Given the description of an element on the screen output the (x, y) to click on. 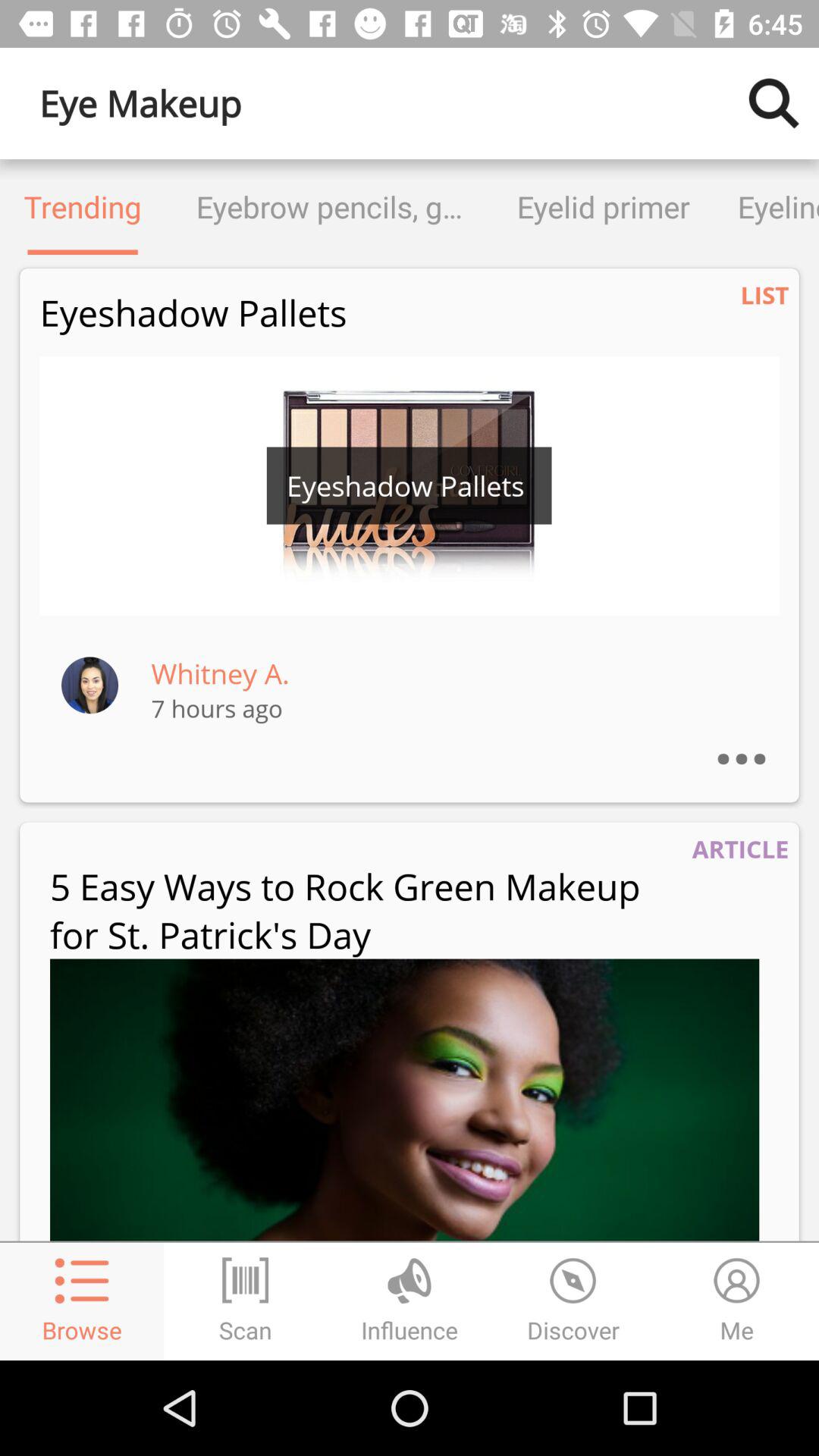
tap the item to the left of eyelid primer item (329, 206)
